Given the description of an element on the screen output the (x, y) to click on. 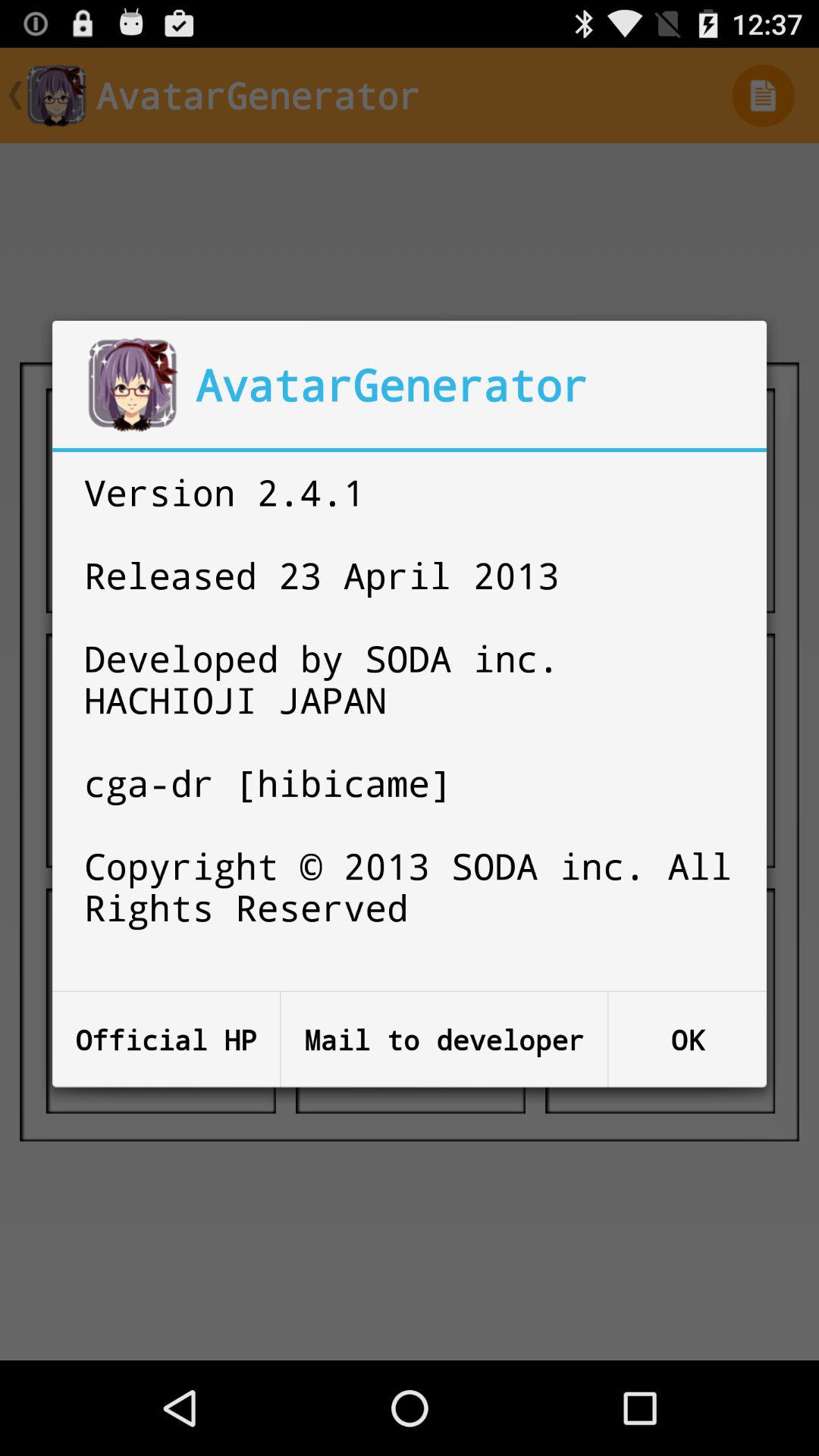
launch the item next to mail to developer icon (687, 1039)
